Given the description of an element on the screen output the (x, y) to click on. 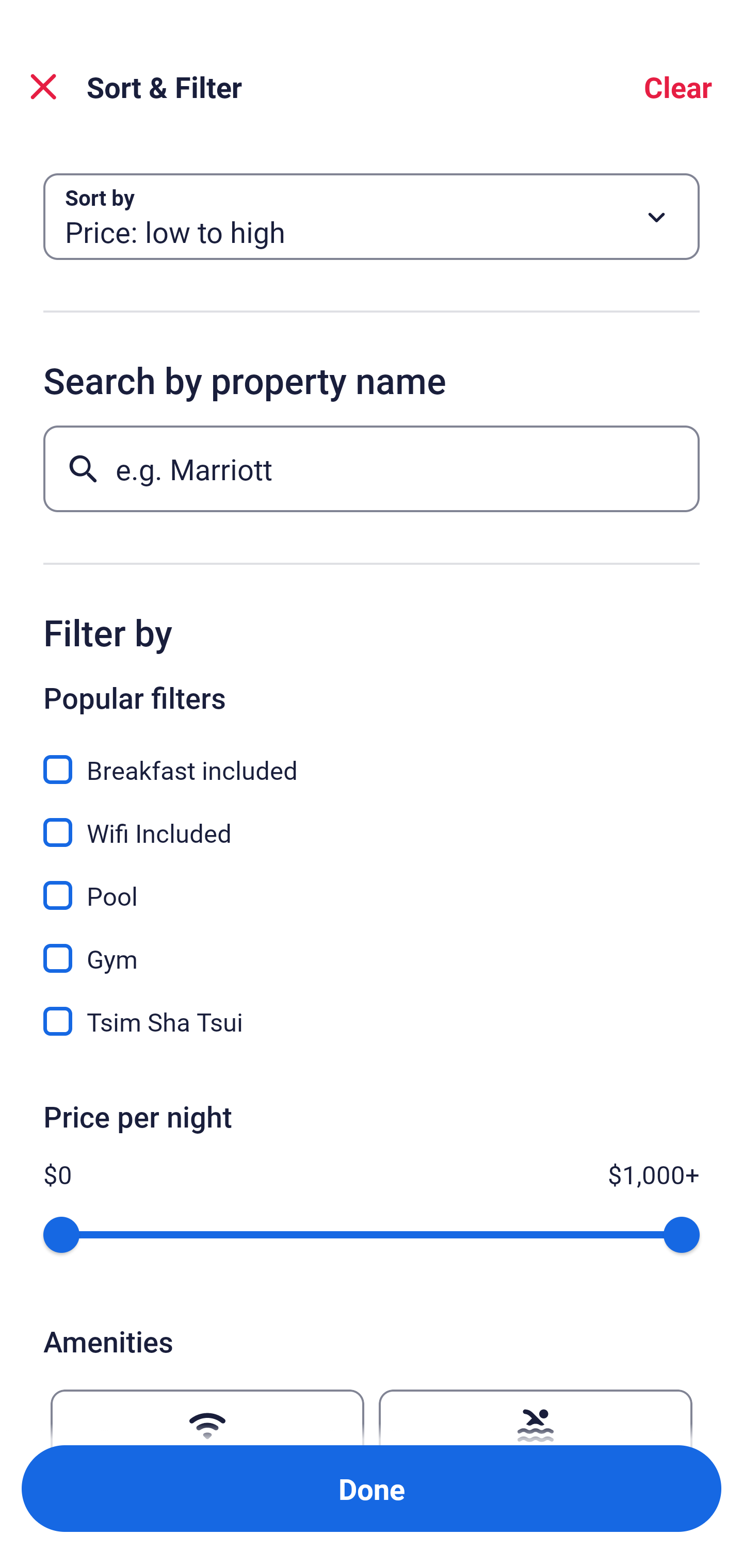
Close Sort and Filter (43, 86)
Clear (677, 86)
Sort by Button Price: low to high (371, 217)
e.g. Marriott Button (371, 468)
Breakfast included, Breakfast included (371, 757)
Wifi Included, Wifi Included (371, 821)
Pool, Pool (371, 883)
Gym, Gym (371, 946)
Tsim Sha Tsui, Tsim Sha Tsui (371, 1021)
Apply and close Sort and Filter Done (371, 1488)
